Given the description of an element on the screen output the (x, y) to click on. 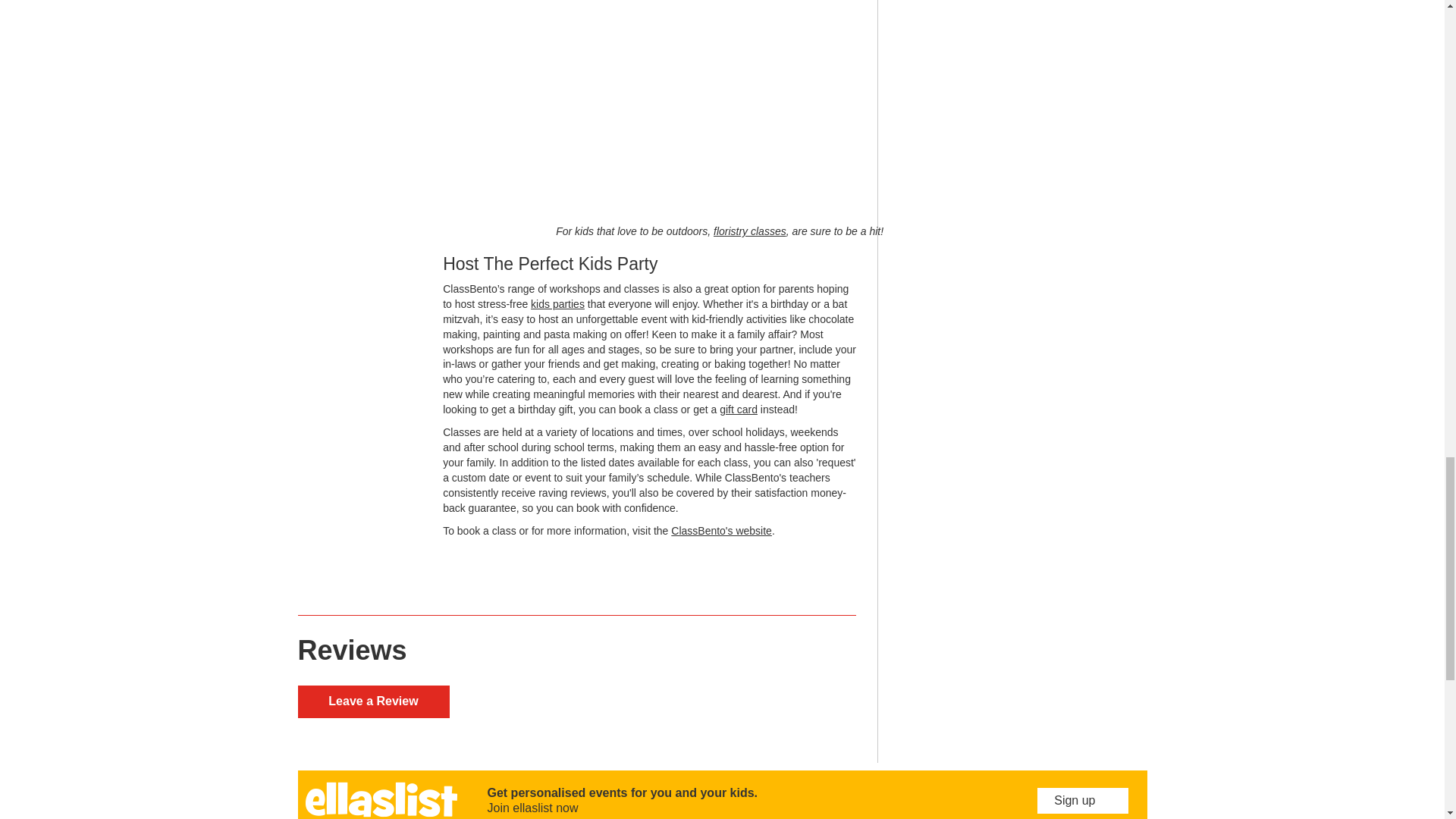
Leave a Review (372, 701)
Leave a Review (372, 701)
ClassBento's website (721, 530)
kids parties (558, 304)
floristry classes (749, 231)
gift card (738, 409)
